Given the description of an element on the screen output the (x, y) to click on. 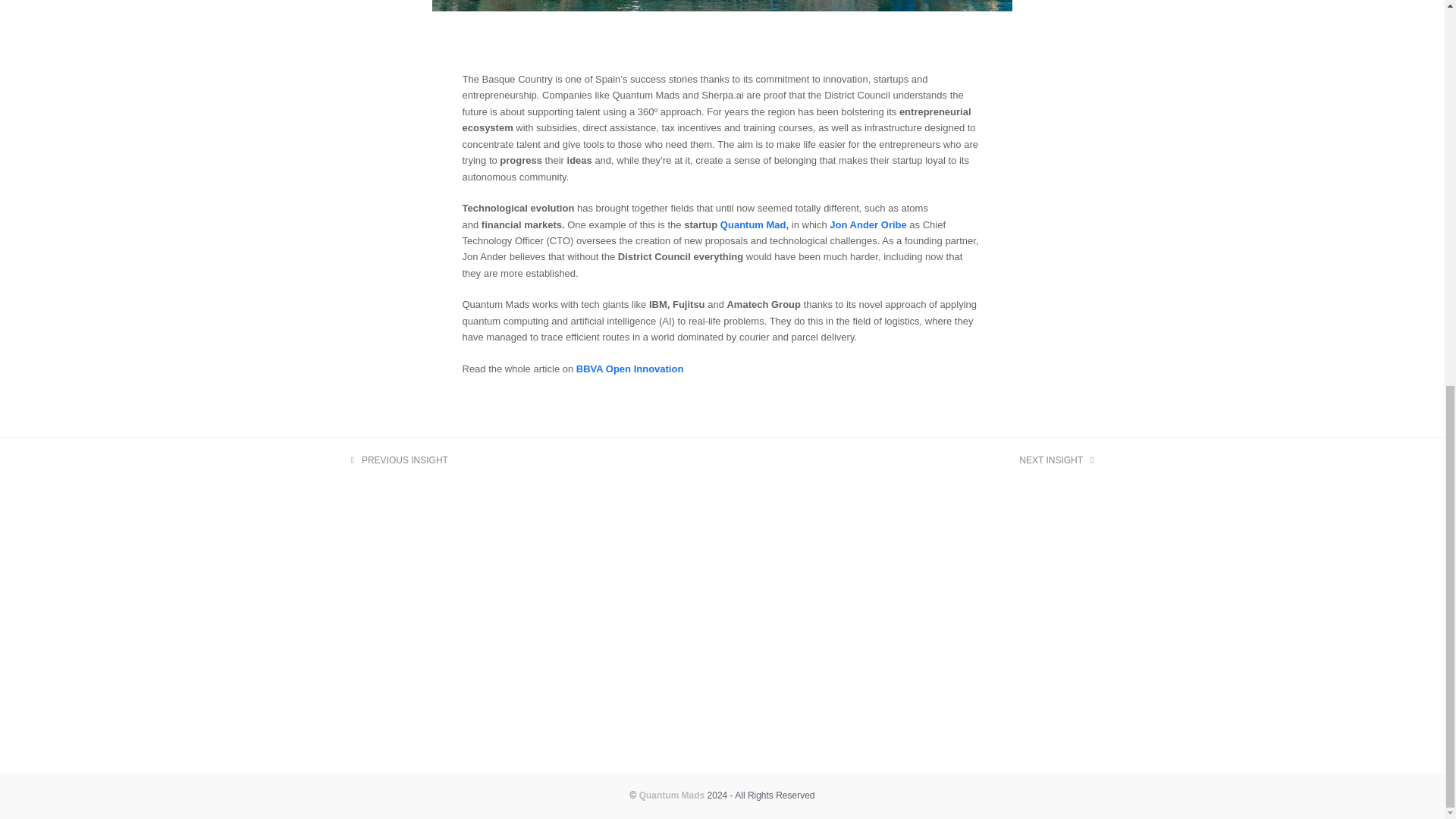
Quantum Mad (753, 224)
BBVA Open Innovation (1056, 460)
Jon Ander Oribe (630, 368)
Quantum Mads (867, 224)
News (671, 795)
